Given the description of an element on the screen output the (x, y) to click on. 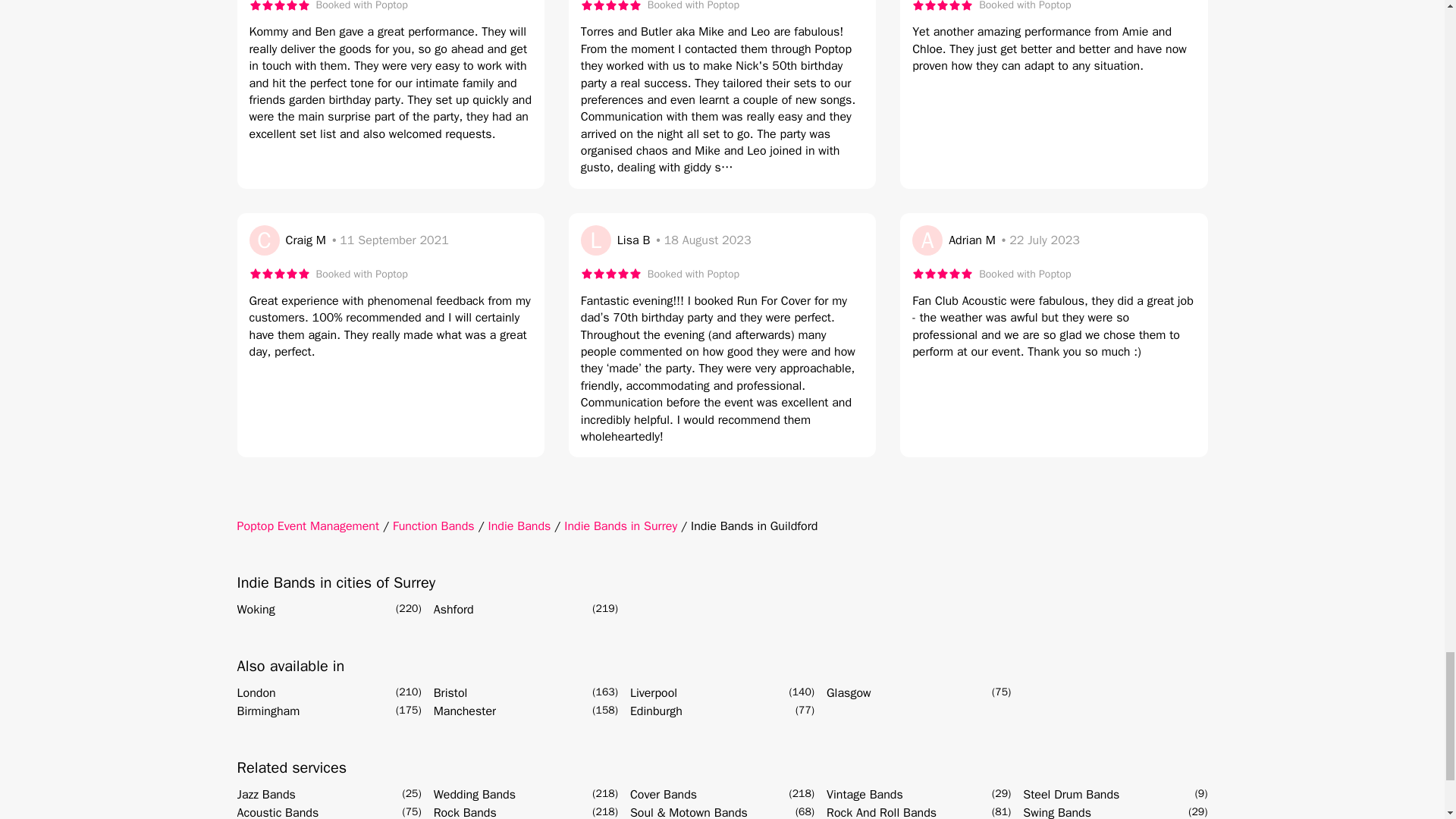
Function Bands (433, 525)
Bristol (450, 692)
Indie Bands (519, 525)
London (255, 692)
Wedding Bands (474, 794)
Liverpool (653, 692)
Edinburgh (656, 710)
Indie Bands in Surrey (620, 525)
Woking (255, 609)
Jazz Bands (265, 794)
Poptop Event Management (306, 525)
Ashford (453, 609)
Acoustic Bands (276, 811)
Glasgow (848, 692)
Birmingham (267, 710)
